Given the description of an element on the screen output the (x, y) to click on. 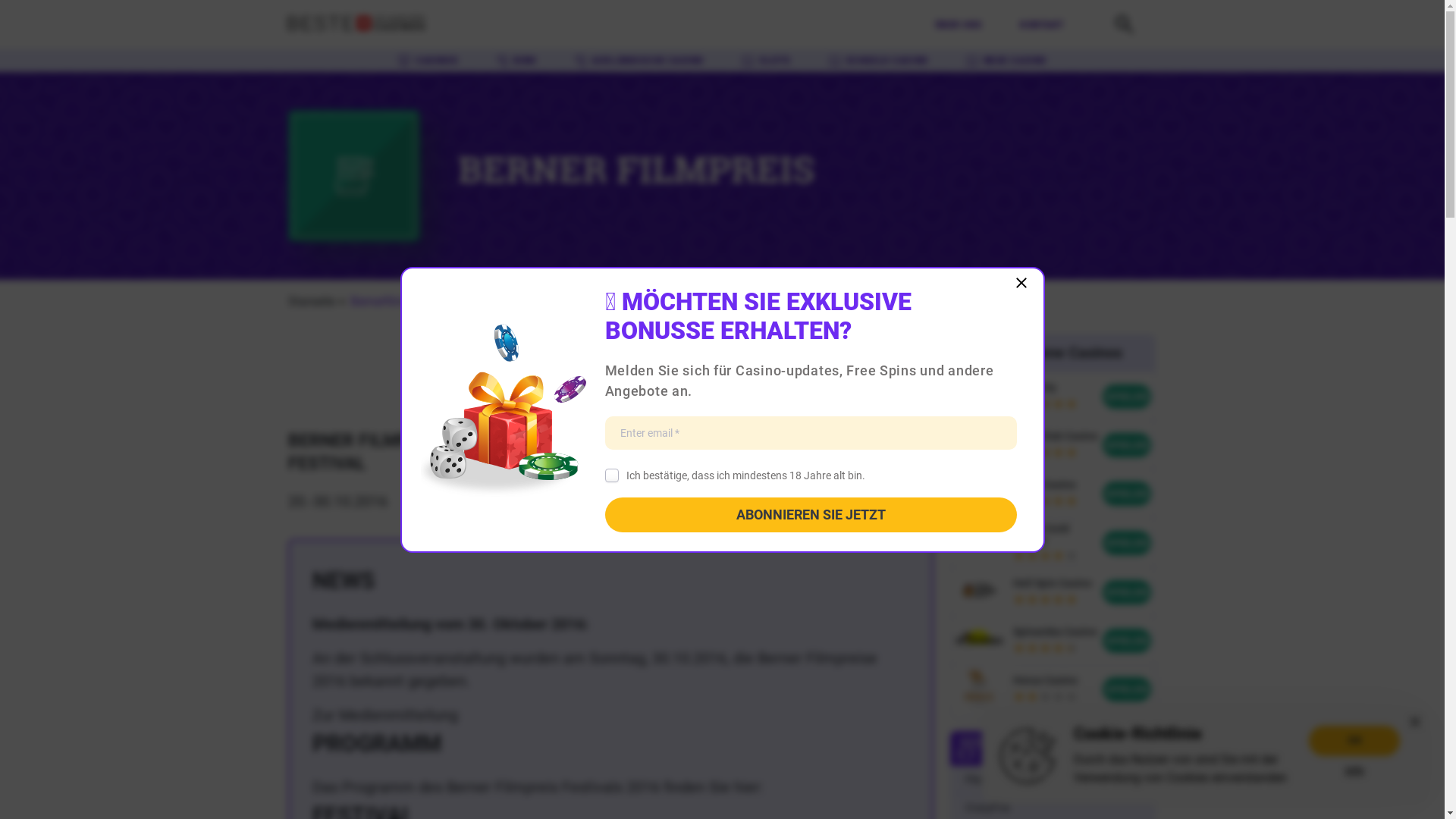
info Element type: text (1353, 770)
OK Element type: text (1353, 739)
ECHGELD CASINO Element type: text (878, 60)
CrazyFox Element type: text (987, 807)
SPIELEN Element type: text (1126, 591)
Suchen Element type: text (1123, 32)
Starseite Element type: text (311, 301)
NEUE CASINO Element type: text (1006, 60)
SPIELEN Element type: text (1126, 688)
CASINOS Element type: text (428, 60)
BONI Element type: text (515, 60)
SPIELEN Element type: text (1126, 542)
SPIELEN Element type: text (1126, 445)
SPIELEN Element type: text (1126, 396)
SPIELEN Element type: text (1126, 639)
Playamo Element type: text (986, 779)
KONTAKT Element type: text (1041, 24)
SPIELEN Element type: text (1126, 493)
SLOTS Element type: text (765, 60)
